Given the description of an element on the screen output the (x, y) to click on. 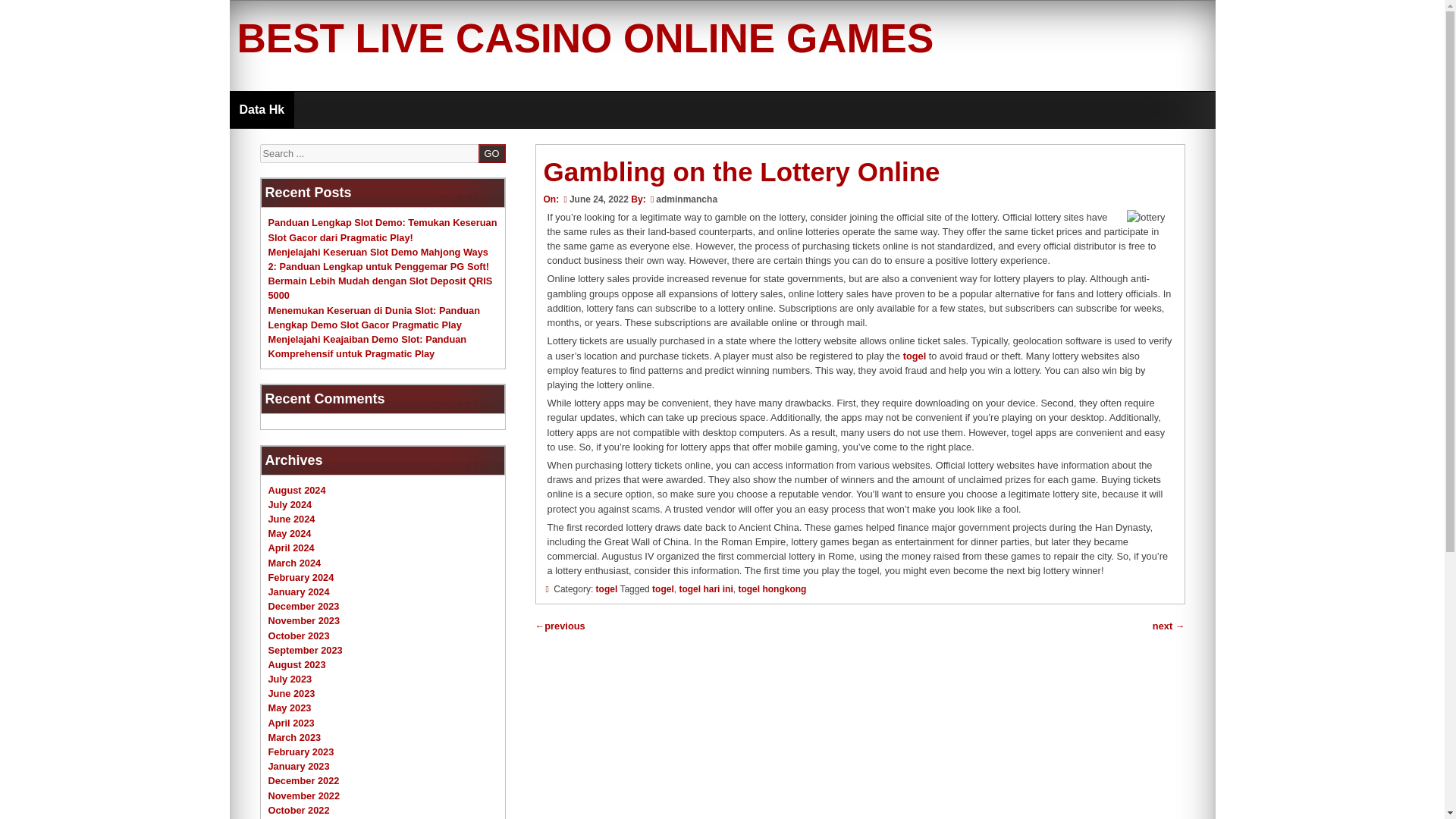
June 2023 (291, 693)
June 24, 2022 (593, 199)
togel hari ini (705, 588)
December 2023 (303, 605)
May 2023 (289, 707)
togel hongkong (772, 588)
November 2023 (303, 620)
May 2024 (289, 532)
